Given the description of an element on the screen output the (x, y) to click on. 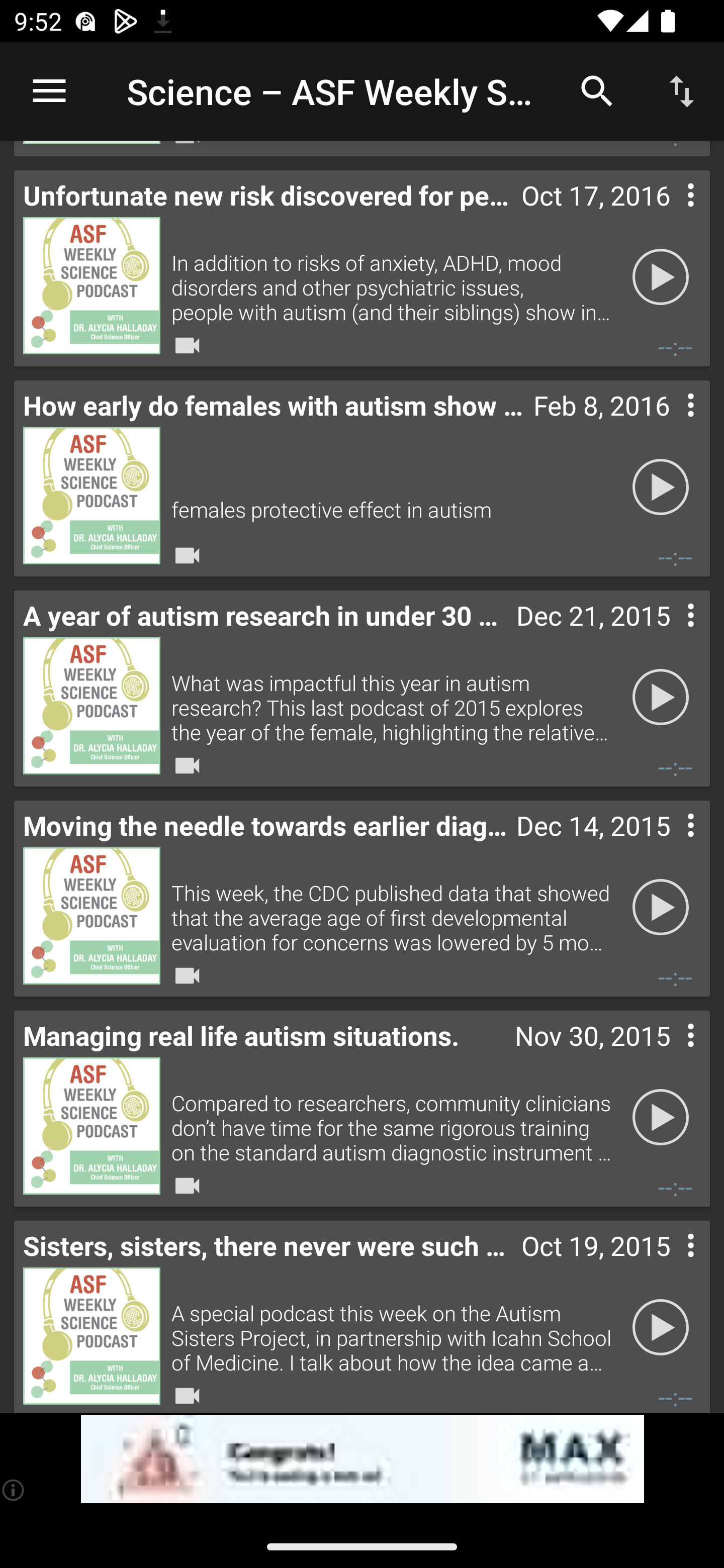
Open navigation sidebar (49, 91)
Search (597, 90)
Sort (681, 90)
Contextual menu (668, 215)
Play (660, 276)
Contextual menu (668, 425)
Play (660, 486)
Contextual menu (668, 635)
Play (660, 696)
Contextual menu (668, 845)
Play (660, 906)
Contextual menu (668, 1055)
Play (660, 1116)
Contextual menu (668, 1265)
Play (660, 1326)
